Given the description of an element on the screen output the (x, y) to click on. 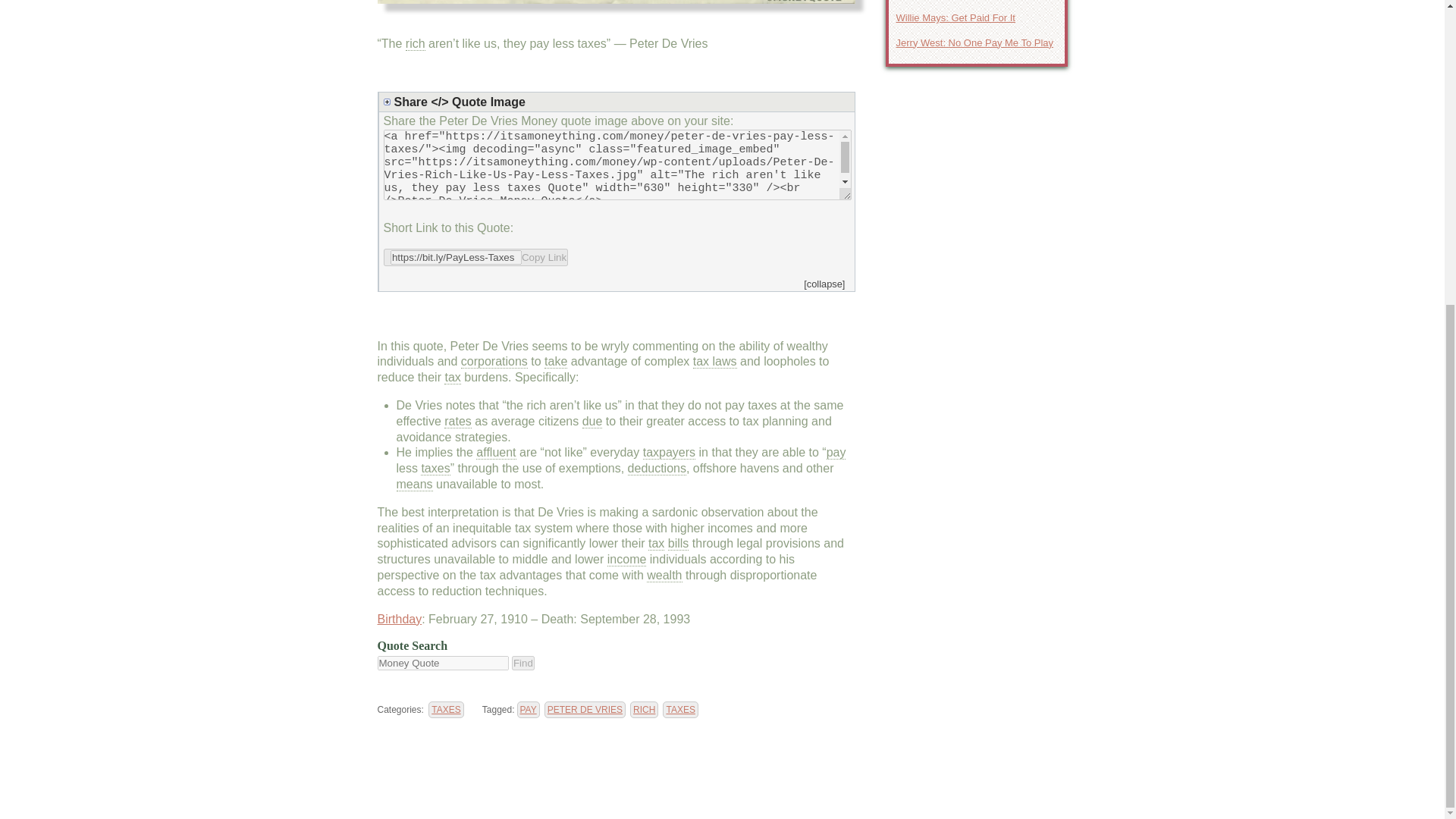
income (626, 559)
PETER DE VRIES (585, 709)
affluent (495, 452)
Expand (619, 101)
wealth (663, 575)
  Copy Link (476, 257)
tax (655, 543)
rich (415, 43)
due (592, 421)
Find (523, 662)
